Given the description of an element on the screen output the (x, y) to click on. 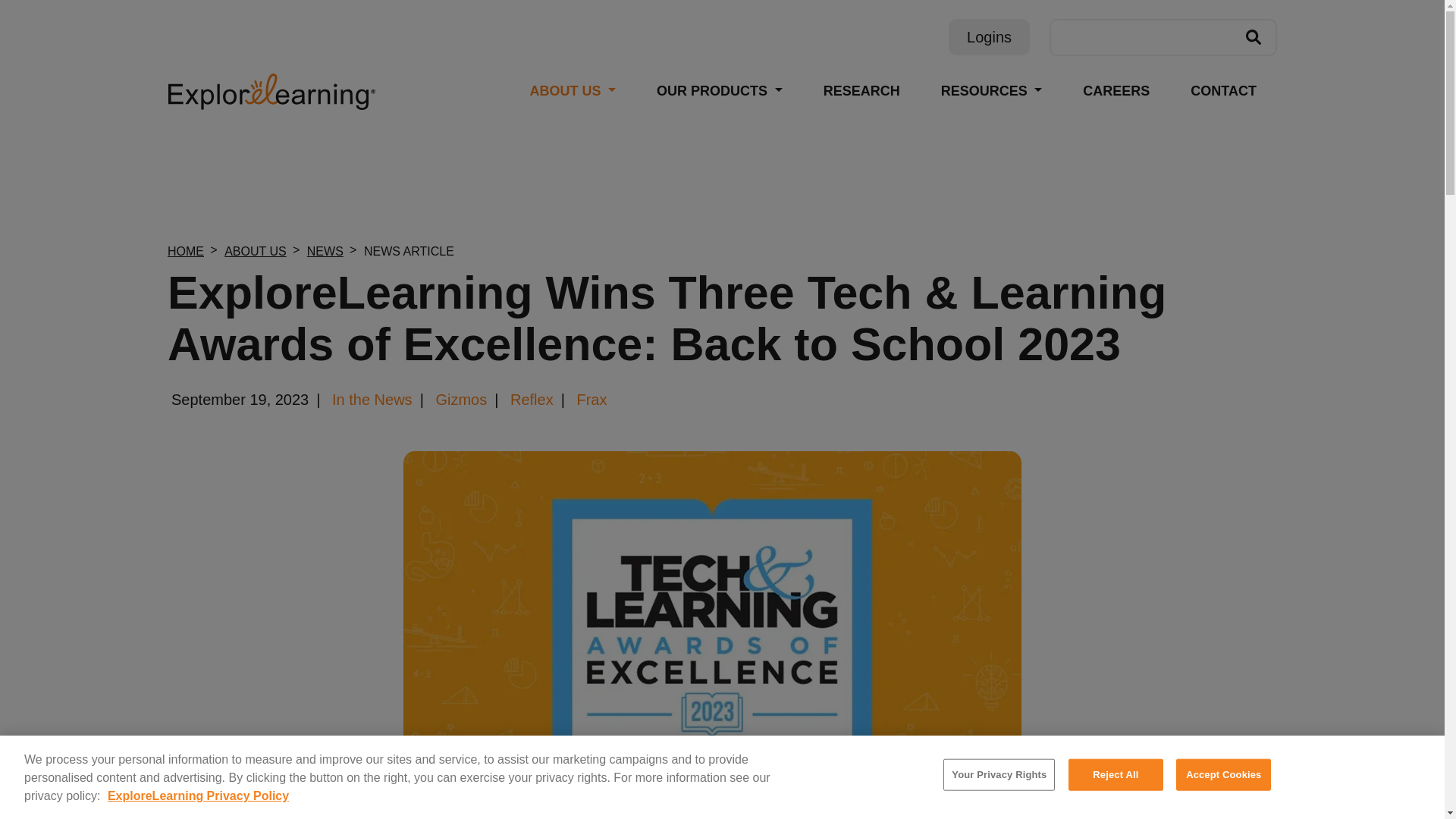
OUR PRODUCTS (719, 91)
HOME (185, 250)
ABOUT US (255, 250)
RESOURCES (991, 91)
ABOUT US (572, 91)
CAREERS (1116, 91)
RESEARCH (861, 91)
Logins (989, 36)
CONTACT (1223, 91)
Explore Learning (271, 91)
